Given the description of an element on the screen output the (x, y) to click on. 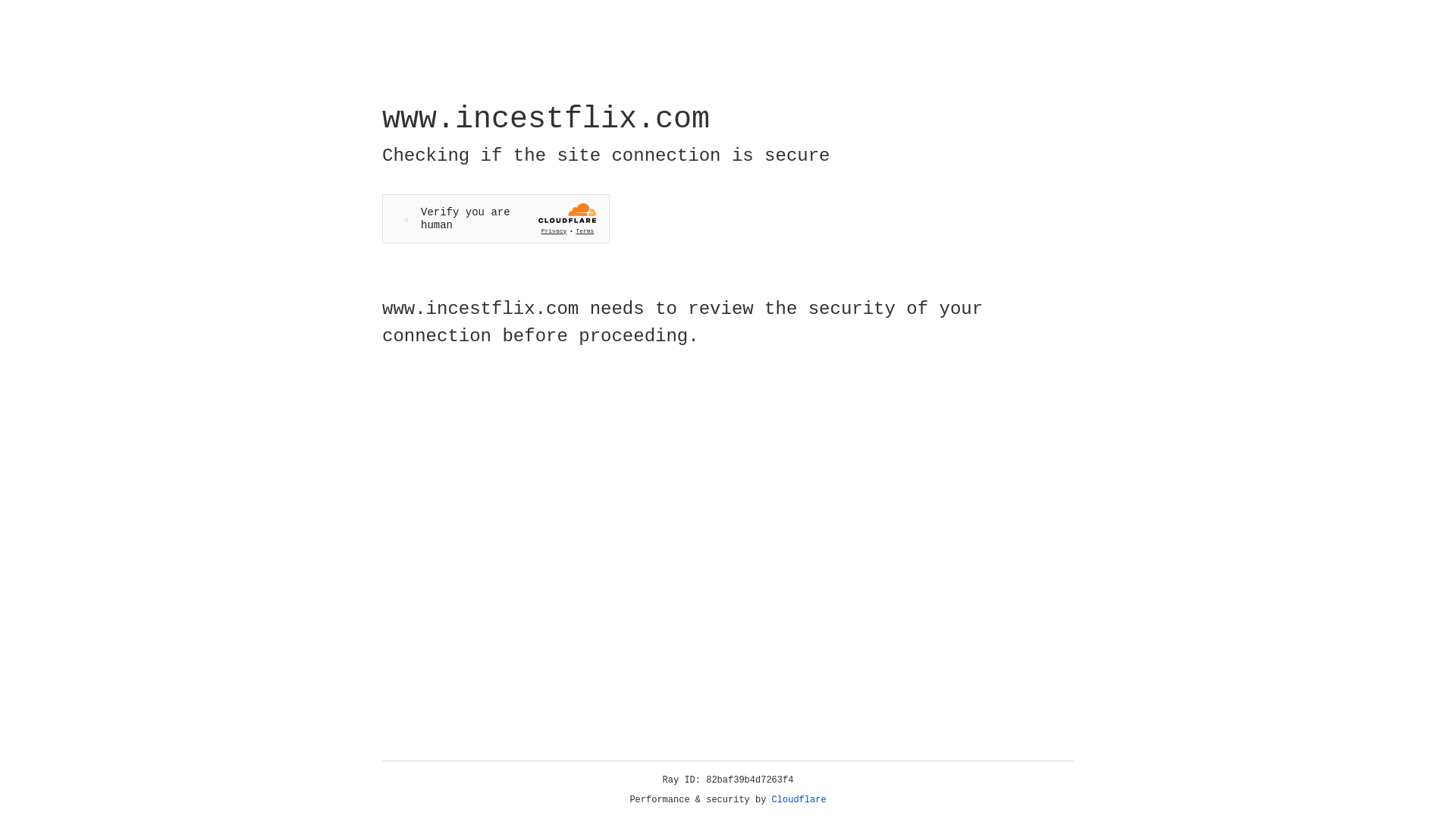
Widget containing a Cloudflare security challenge Element type: hover (495, 218)
Cloudflare Element type: text (798, 799)
